Given the description of an element on the screen output the (x, y) to click on. 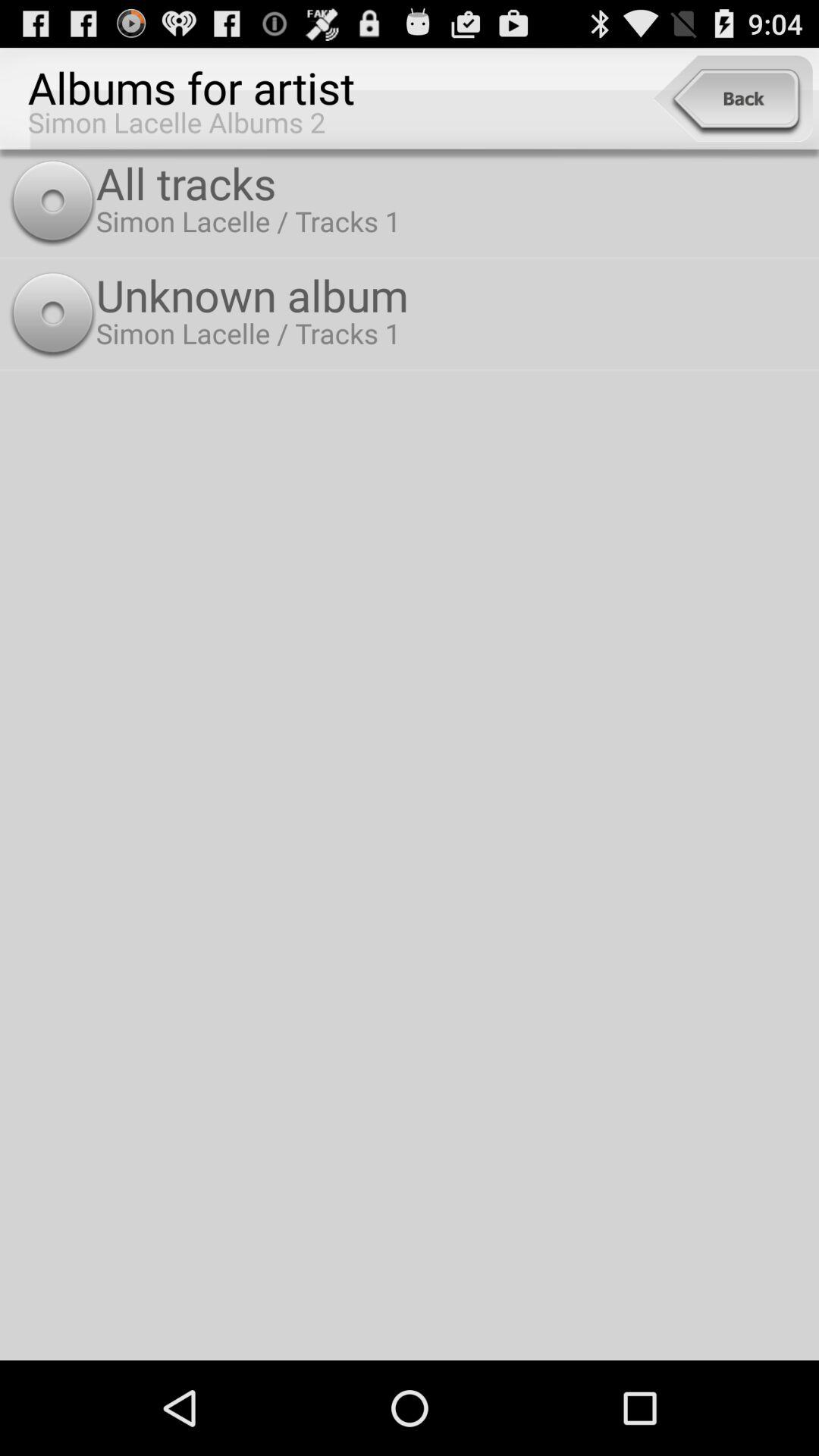
press button at the top right corner (732, 98)
